Given the description of an element on the screen output the (x, y) to click on. 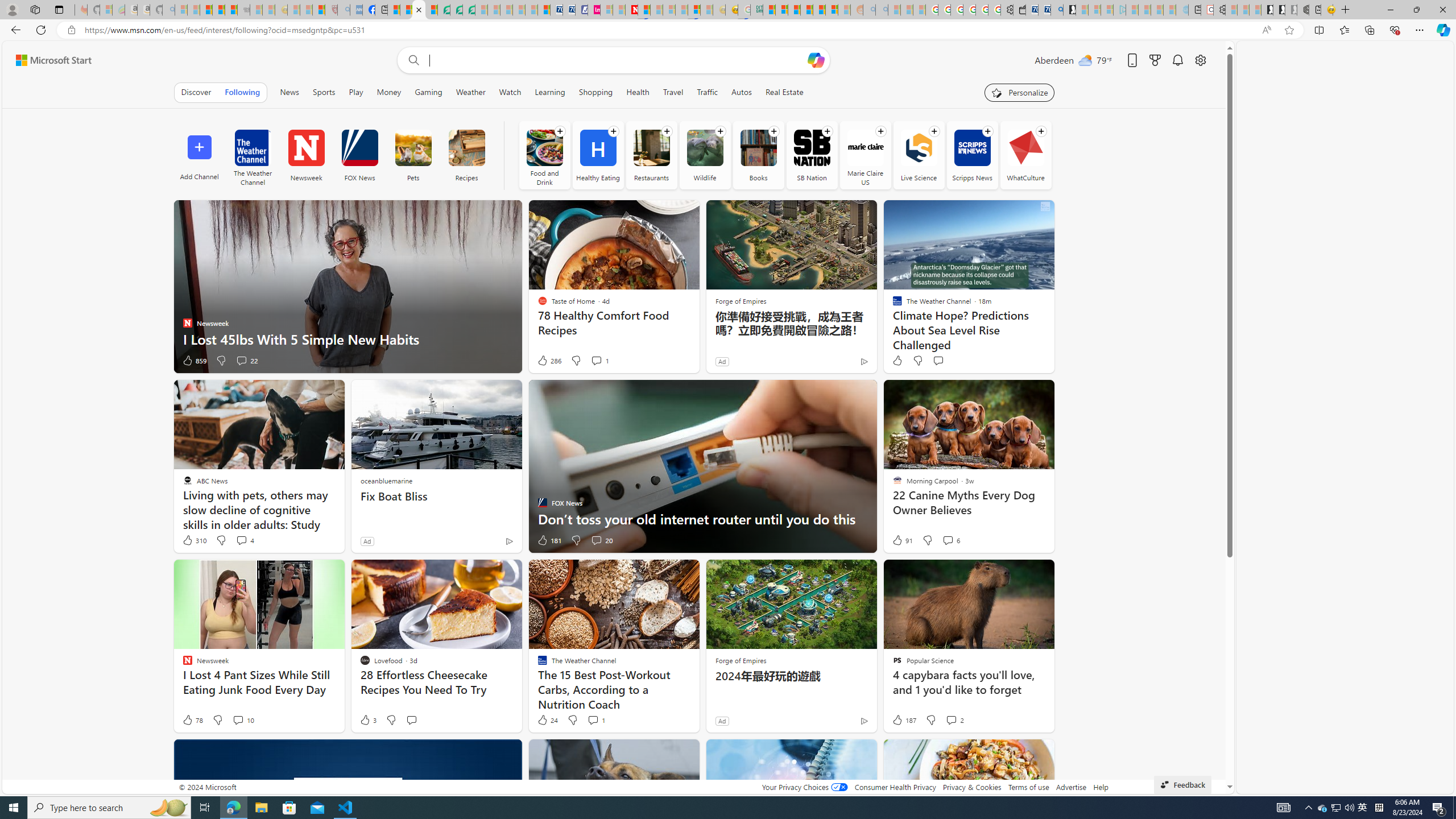
Healthy Eating (598, 155)
78 Like (192, 719)
Hide this story (1019, 752)
91 Like (901, 539)
The Weather Channel (252, 155)
